Given the description of an element on the screen output the (x, y) to click on. 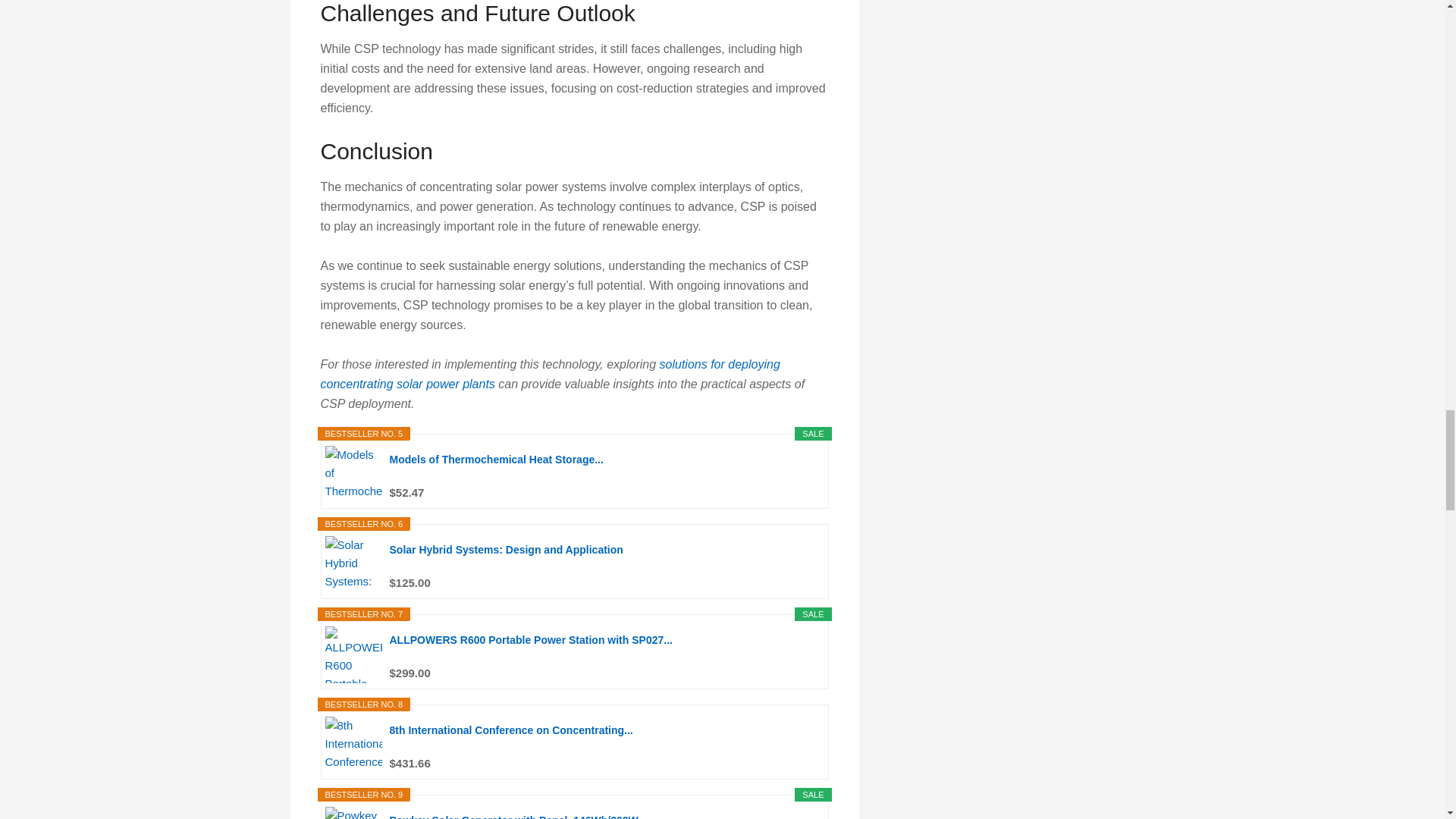
ALLPOWERS R600 Portable Power Station with SP027... (603, 647)
solutions for deploying concentrating solar power plants (549, 373)
Models of Thermochemical Heat Storage... (603, 467)
Solar Hybrid Systems: Design and Application (603, 557)
